Given the description of an element on the screen output the (x, y) to click on. 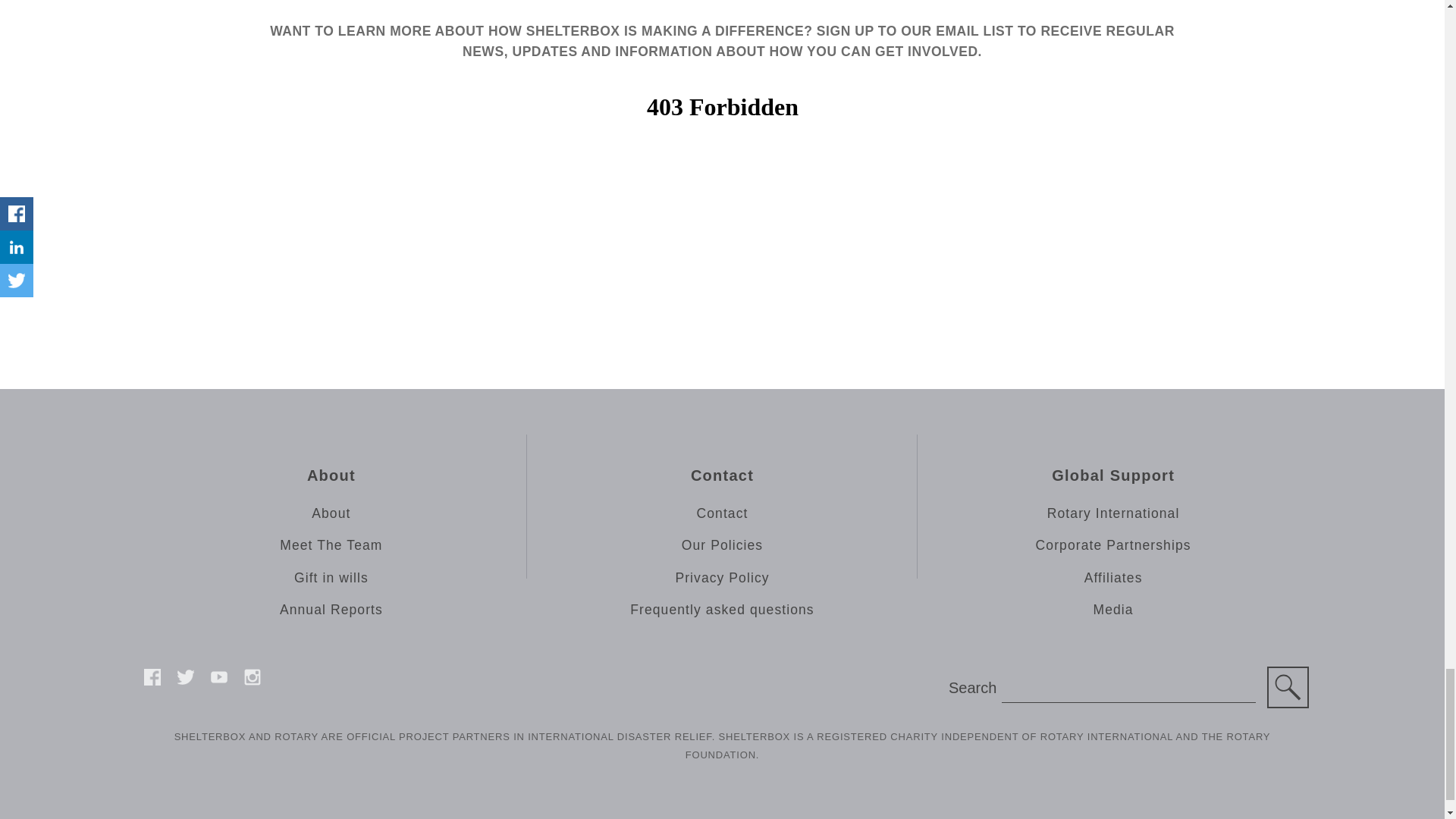
About (331, 513)
Search (1287, 686)
Meet The Team (331, 545)
Gift in wills (331, 577)
